Given the description of an element on the screen output the (x, y) to click on. 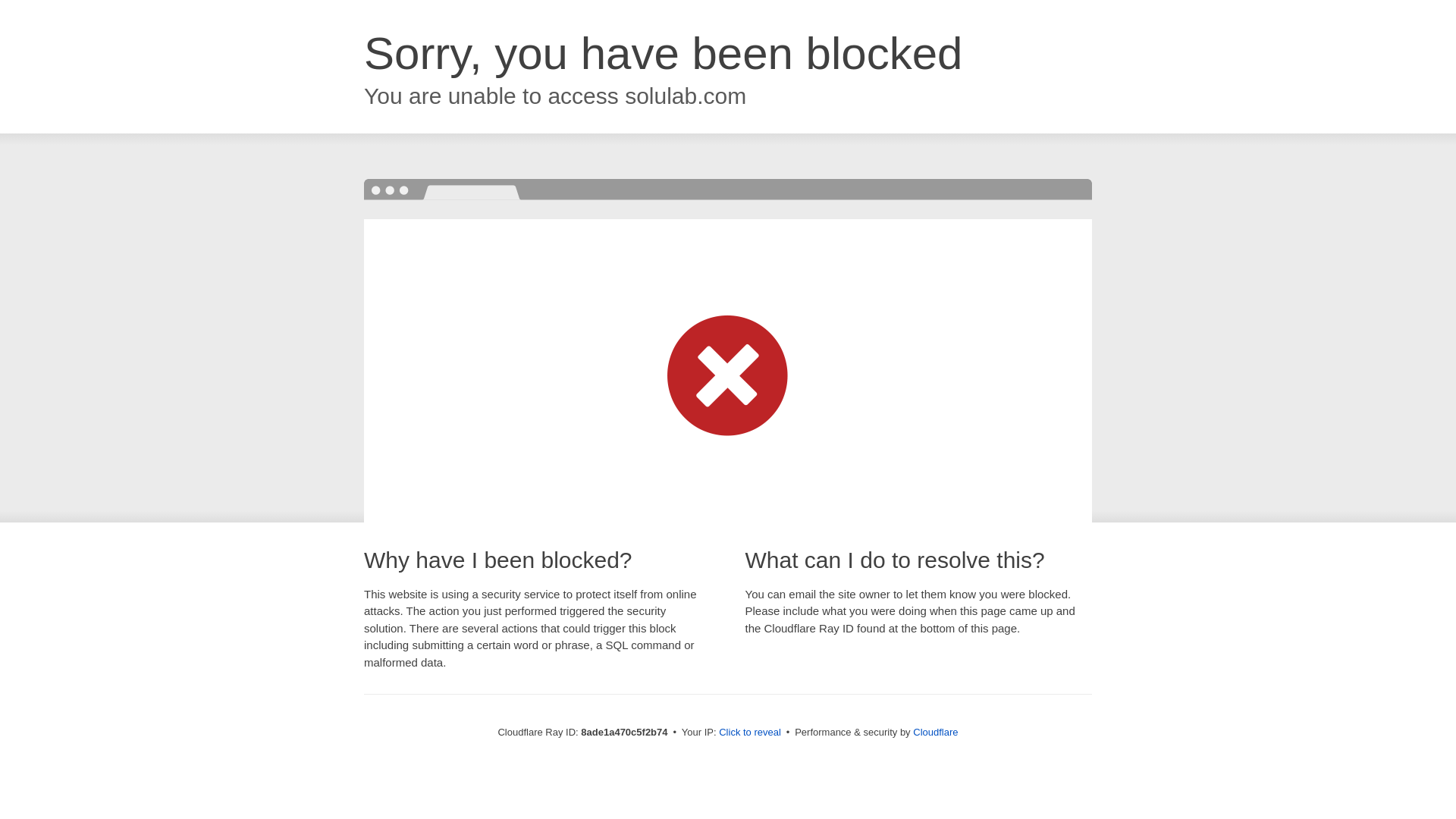
Click to reveal (749, 732)
Cloudflare (935, 731)
